Given the description of an element on the screen output the (x, y) to click on. 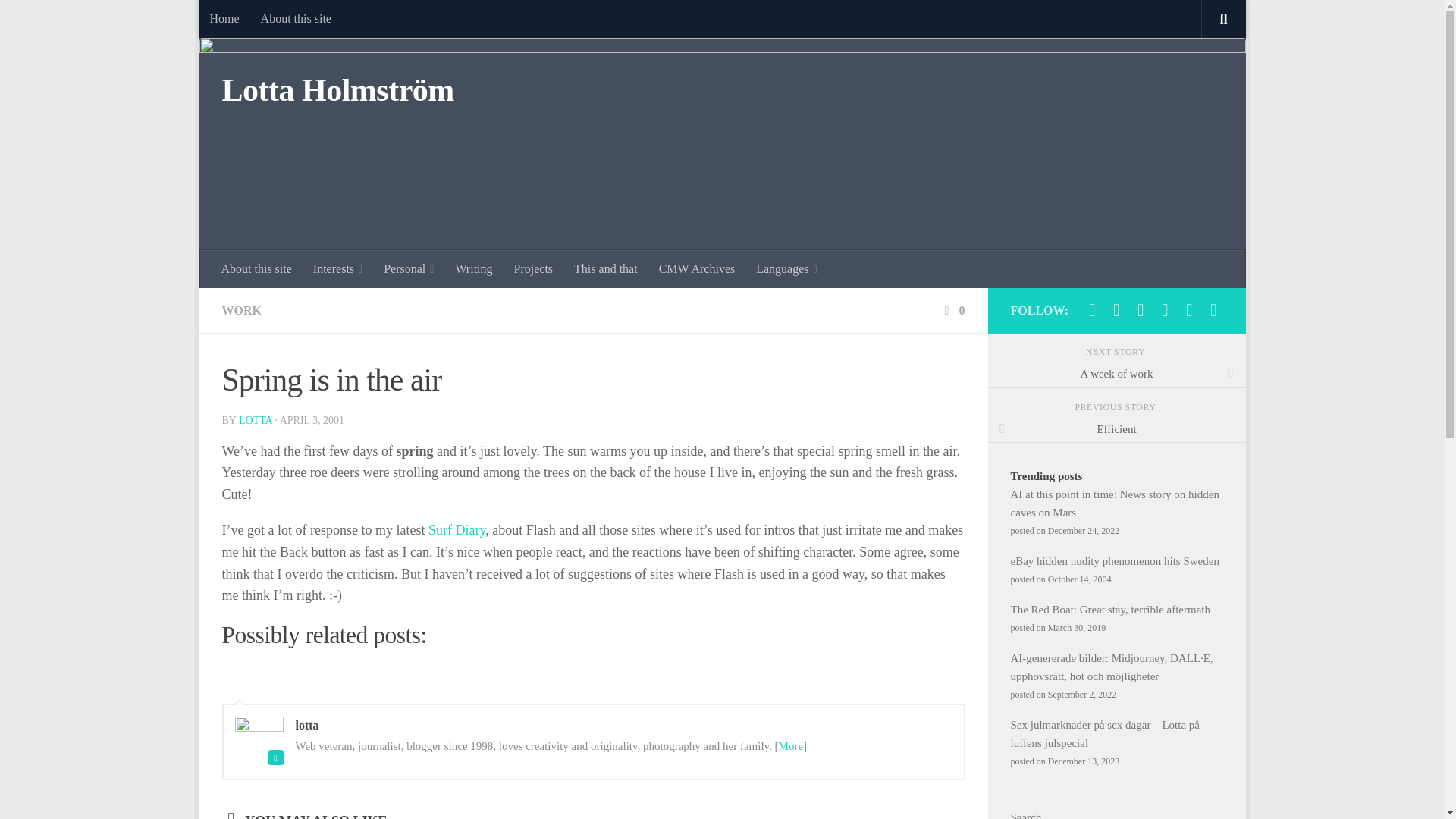
Follow me with Rss (1213, 310)
Home (223, 18)
Personal (408, 269)
This and that (605, 269)
Skip to content (258, 20)
Follow me on Pinterest (1164, 310)
About this site (256, 269)
Interests (337, 269)
WORK (240, 309)
Writing (473, 269)
Follow me on Mastodon (1091, 310)
Posts by lotta (255, 419)
About this site (296, 18)
Follow me on Flickr (1140, 310)
Projects (533, 269)
